Given the description of an element on the screen output the (x, y) to click on. 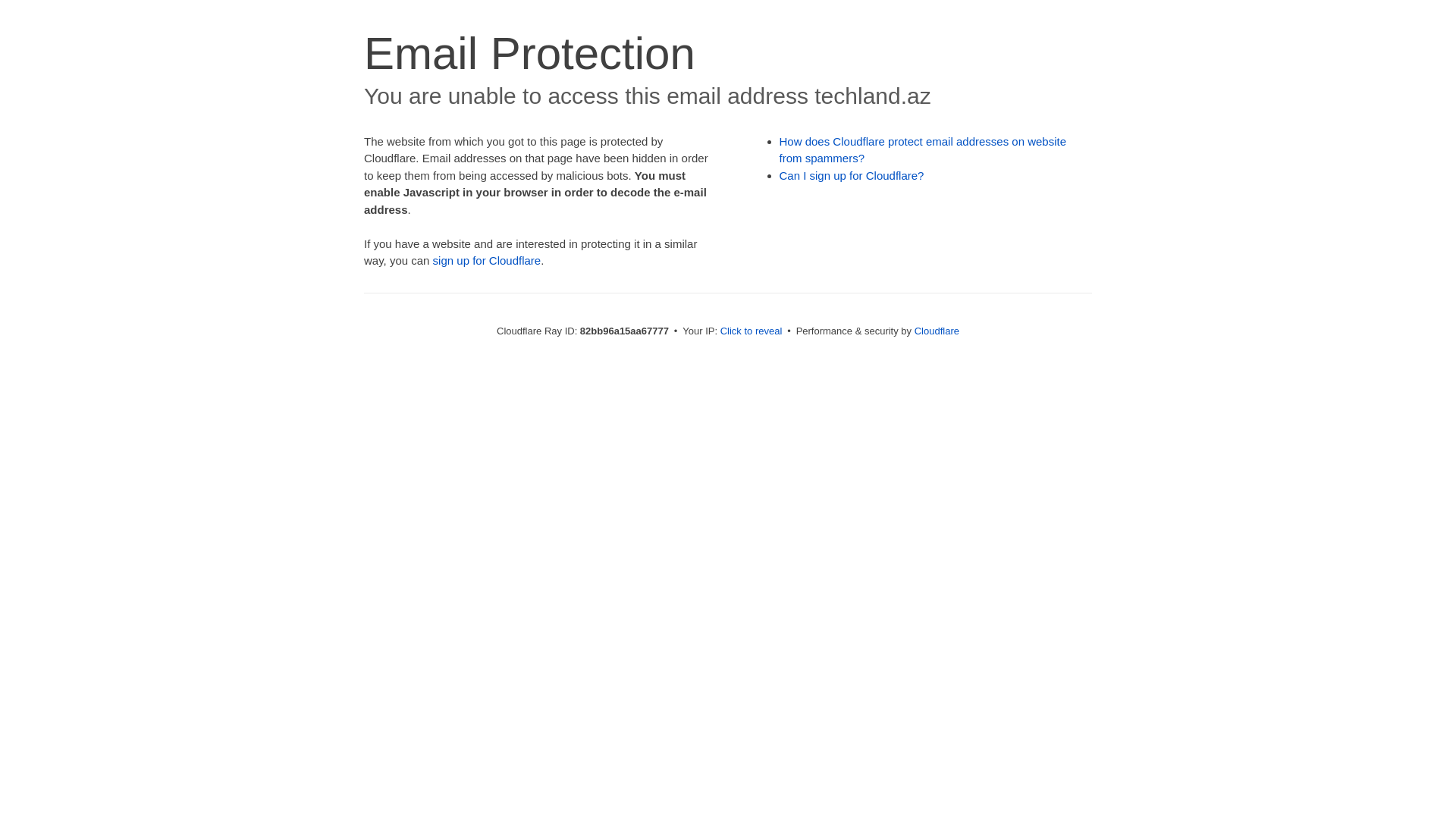
Can I sign up for Cloudflare? Element type: text (851, 175)
Click to reveal Element type: text (751, 330)
sign up for Cloudflare Element type: text (487, 260)
Cloudflare Element type: text (936, 330)
